Given the description of an element on the screen output the (x, y) to click on. 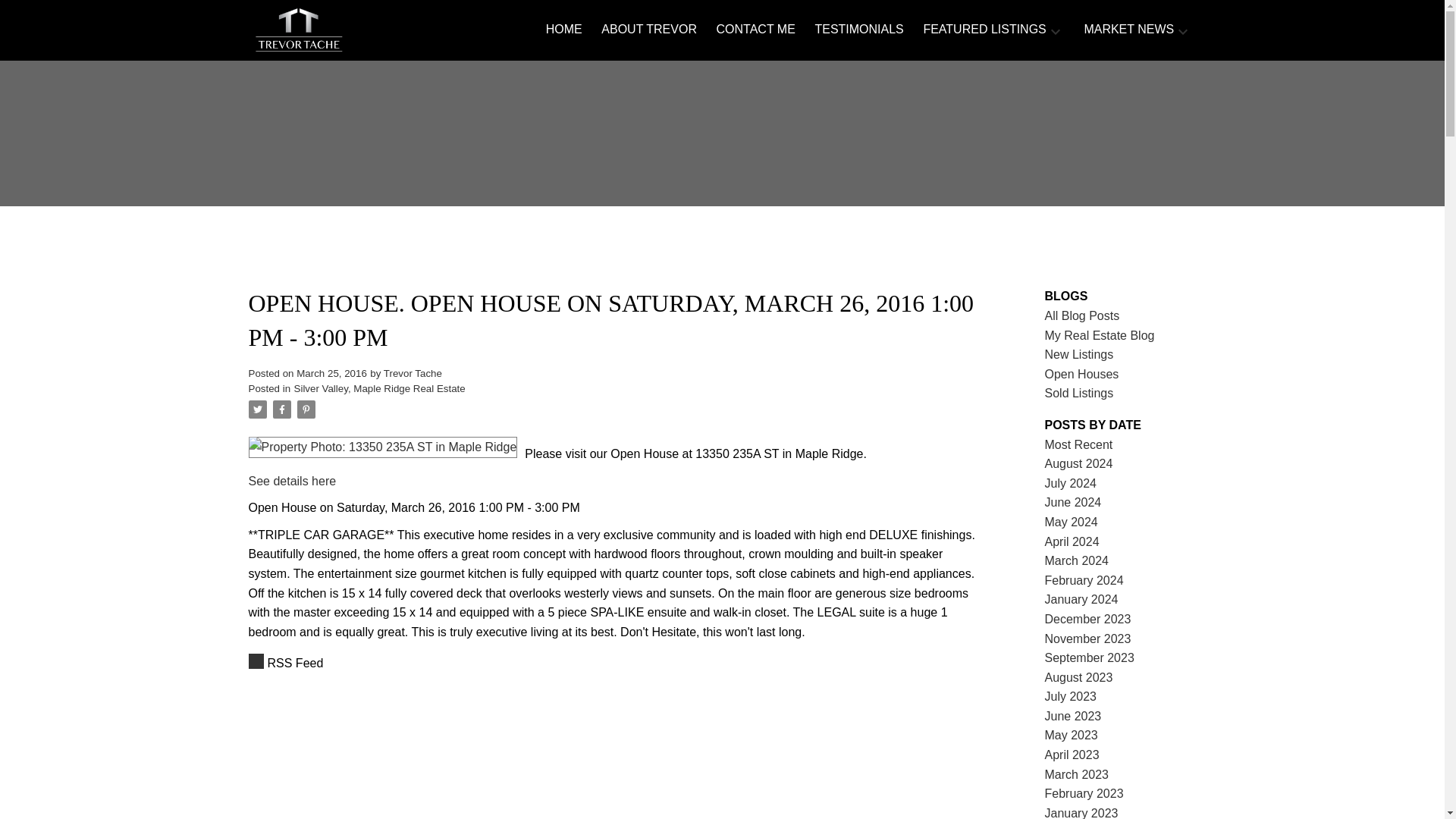
CONTACT ME (755, 30)
Sold Listings (1079, 392)
See details here (292, 481)
Most Recent (1079, 444)
July 2024 (1071, 482)
May 2024 (1071, 521)
Silver Valley, Maple Ridge Real Estate (379, 388)
New Listings (1079, 354)
RSS (616, 663)
ABOUT TREVOR (649, 30)
